Given the description of an element on the screen output the (x, y) to click on. 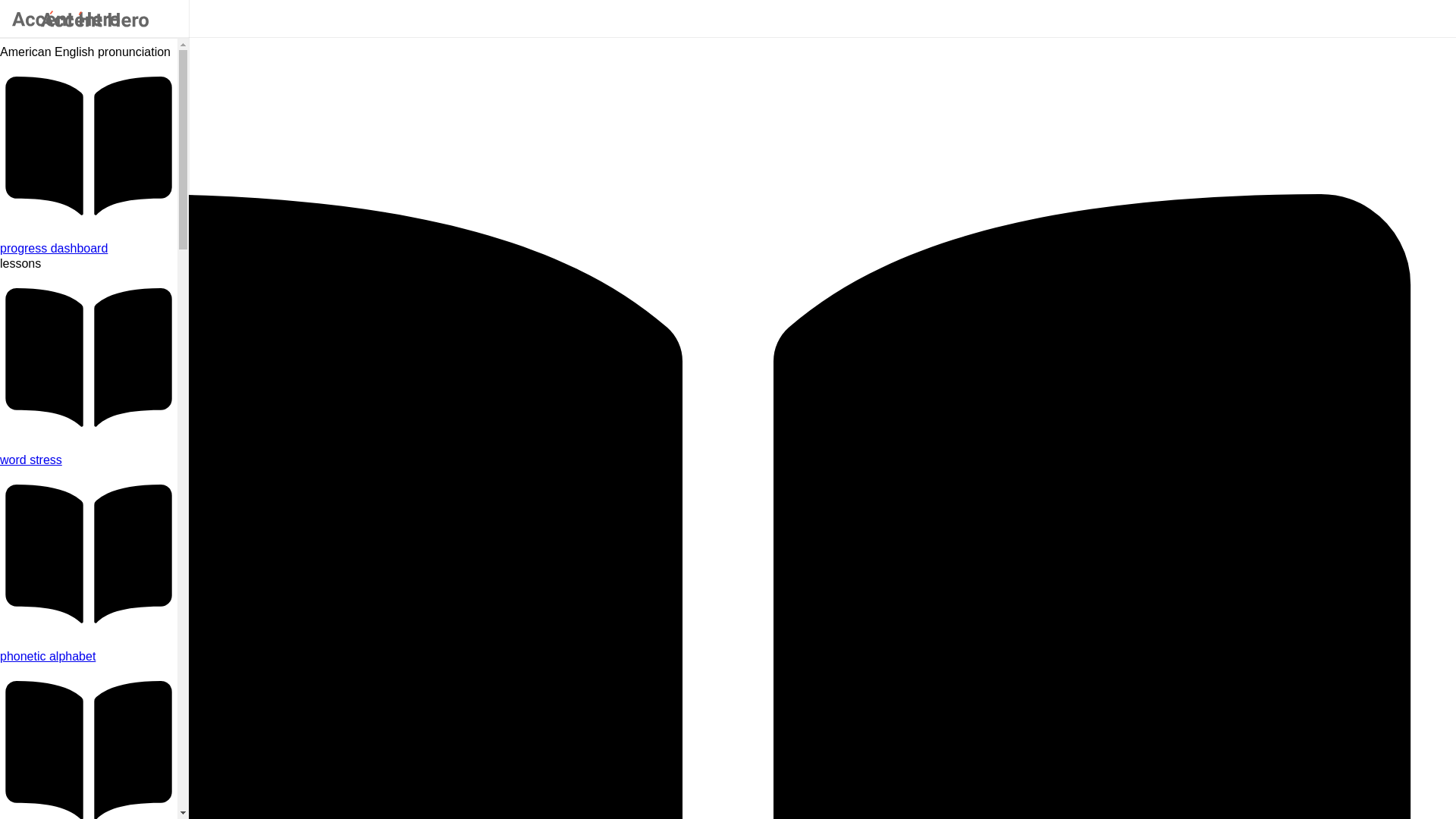
Learn to precisely articulate each sound (88, 656)
Learn how word stress influences your accent (88, 459)
